Given the description of an element on the screen output the (x, y) to click on. 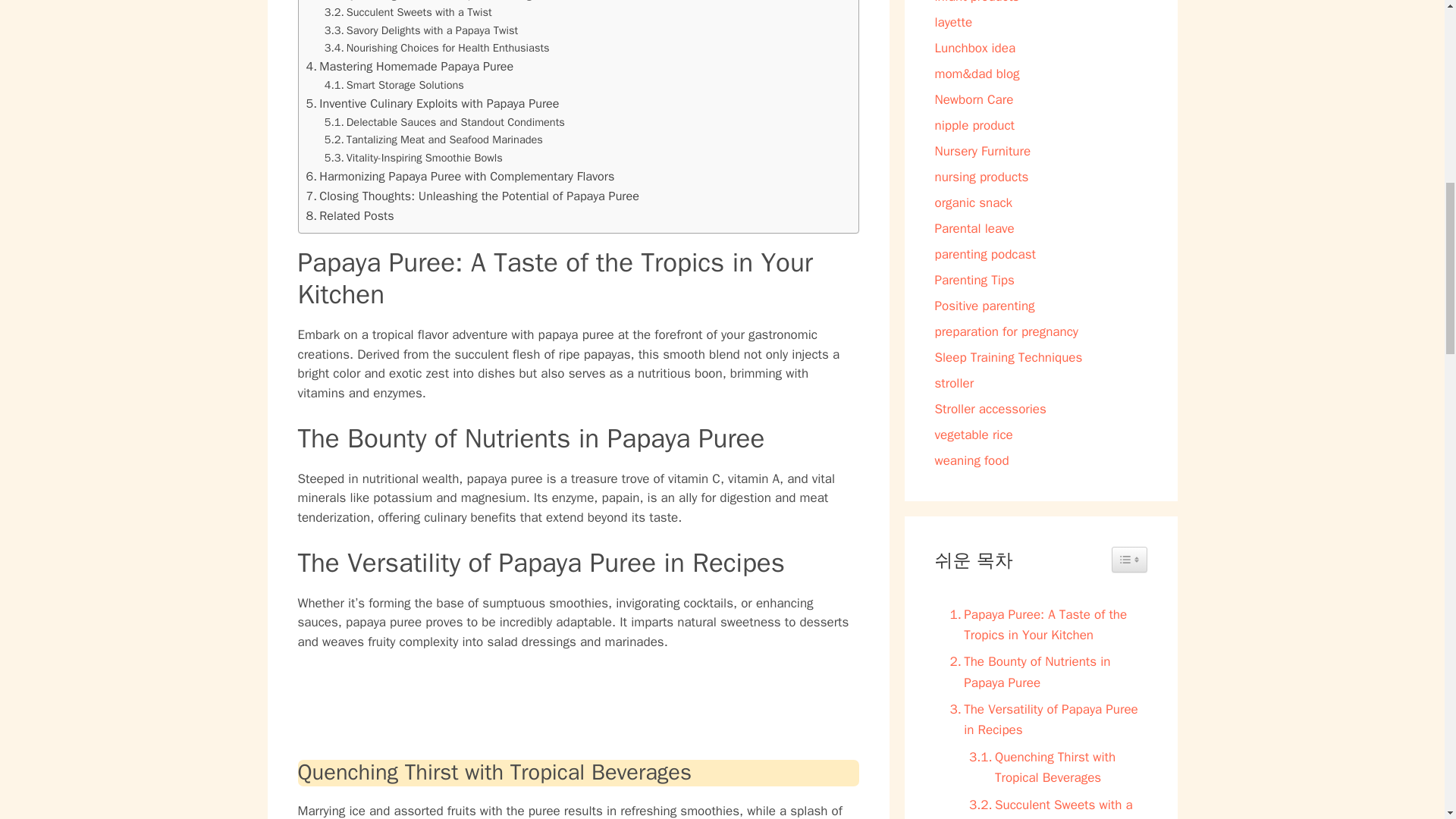
Harmonizing Papaya Puree with Complementary Flavors (459, 176)
Delectable Sauces and Standout Condiments (444, 122)
Closing Thoughts: Unleashing the Potential of Papaya Puree (472, 196)
Tantalizing Meat and Seafood Marinades (433, 139)
Quenching Thirst with Tropical Beverages (433, 2)
Delectable Sauces and Standout Condiments (444, 122)
Savory Delights with a Papaya Twist (421, 30)
Mastering Homemade Papaya Puree (409, 66)
Savory Delights with a Papaya Twist (421, 30)
Succulent Sweets with a Twist (408, 12)
Quenching Thirst with Tropical Beverages (433, 2)
Succulent Sweets with a Twist (408, 12)
Vitality-Inspiring Smoothie Bowls (413, 158)
Harmonizing Papaya Puree with Complementary Flavors (459, 176)
Inventive Culinary Exploits with Papaya Puree (432, 103)
